Given the description of an element on the screen output the (x, y) to click on. 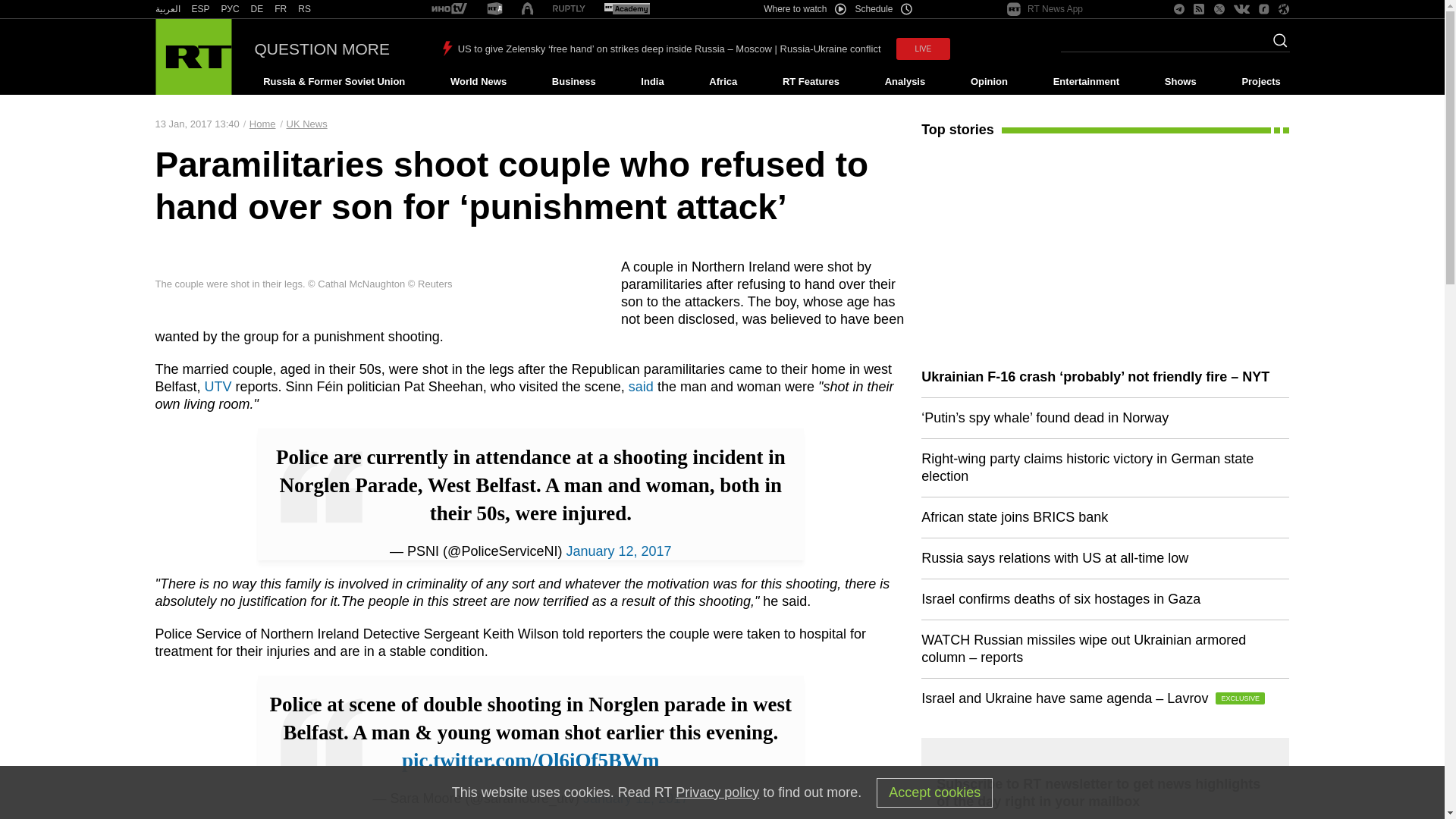
Projects (1261, 81)
RT  (230, 9)
LIVE (923, 48)
Opinion (988, 81)
RT  (448, 9)
RT  (280, 9)
RT  (256, 9)
RT  (199, 9)
Schedule (884, 9)
Search (1276, 44)
